Given the description of an element on the screen output the (x, y) to click on. 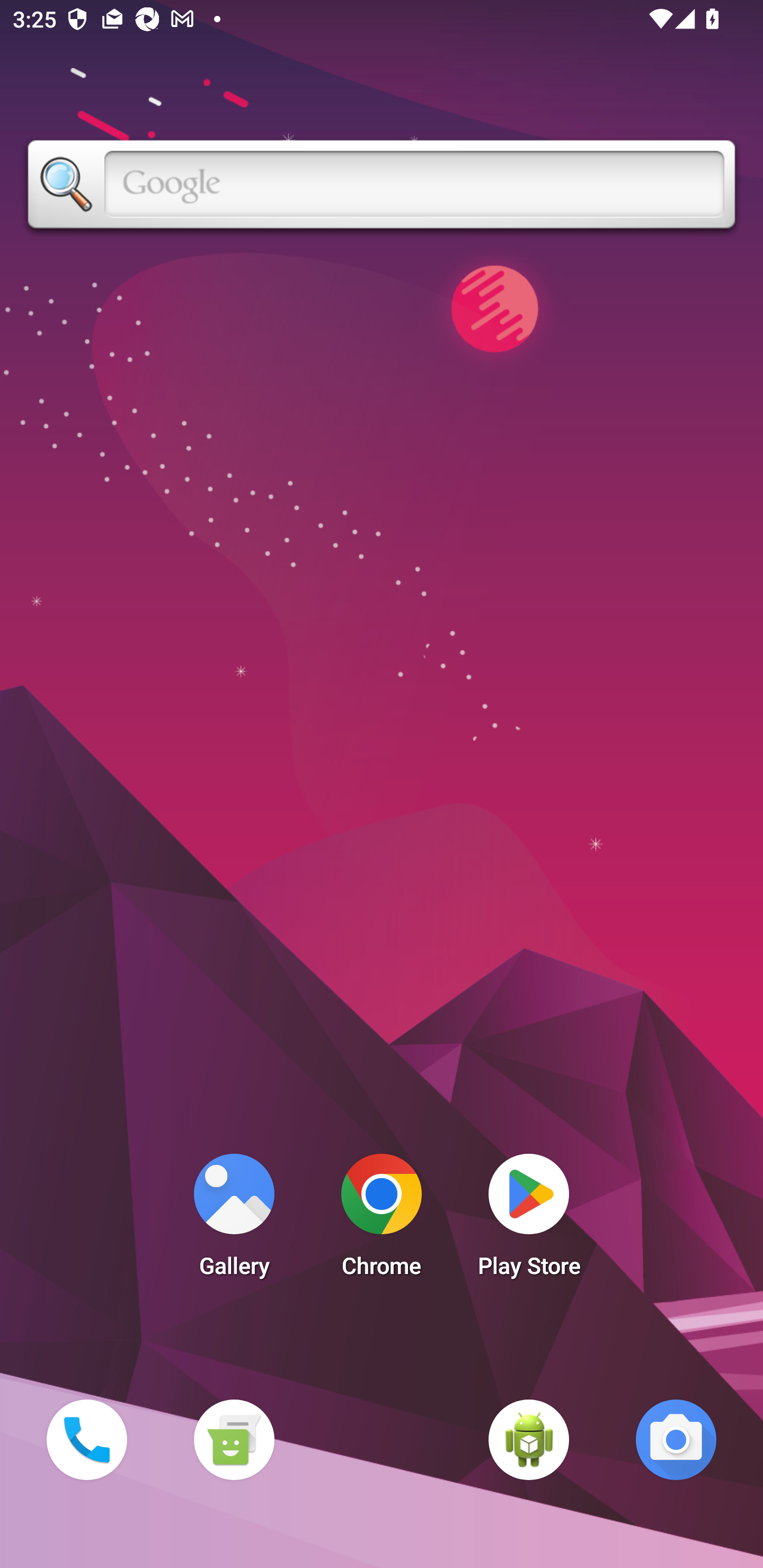
Gallery (233, 1220)
Chrome (381, 1220)
Play Store (528, 1220)
Phone (86, 1439)
Messaging (233, 1439)
WebView Browser Tester (528, 1439)
Camera (676, 1439)
